Given the description of an element on the screen output the (x, y) to click on. 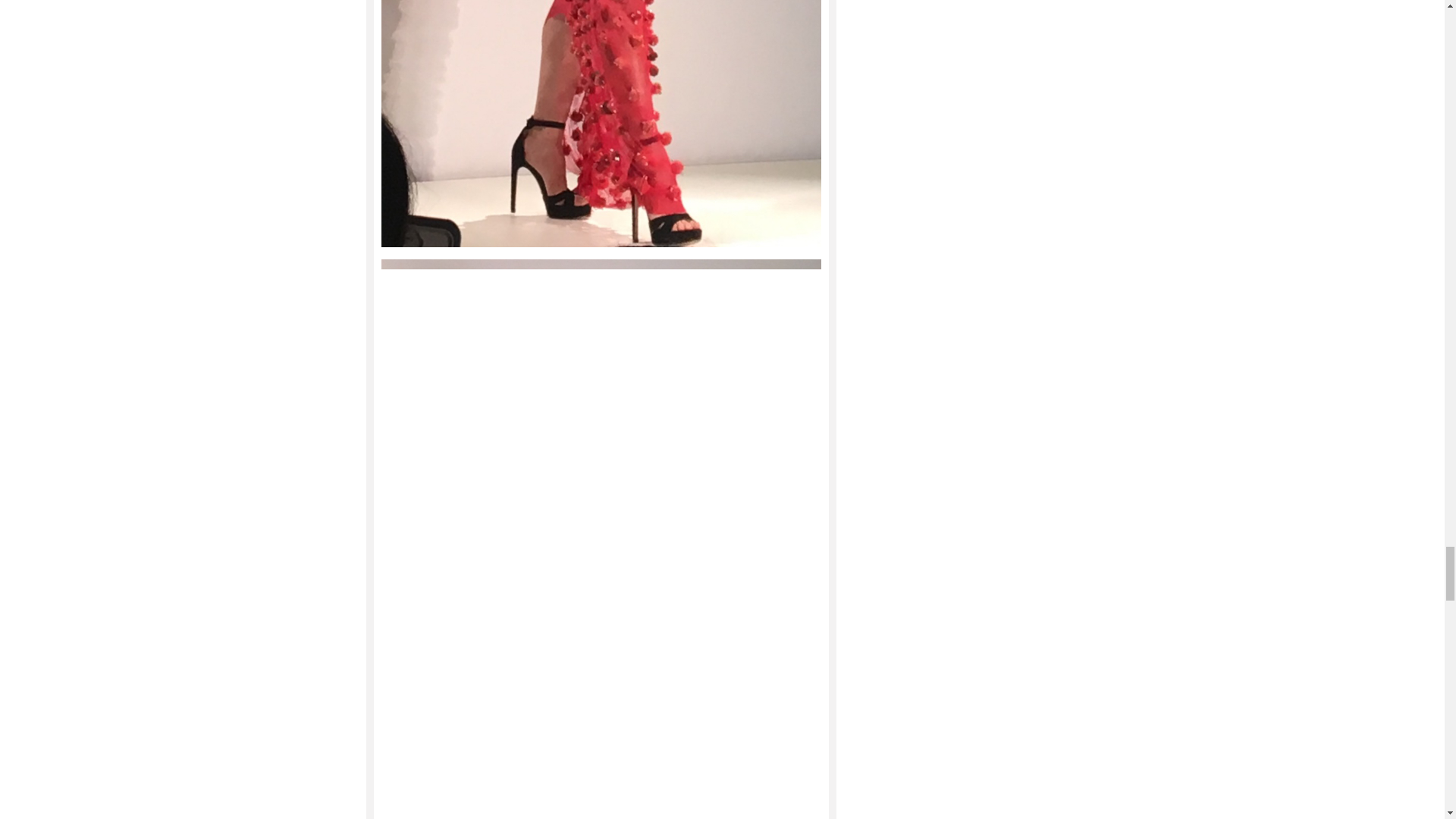
7-patricia-michaels-style-fashion-week-red-pom-pom-dress (600, 123)
